Given the description of an element on the screen output the (x, y) to click on. 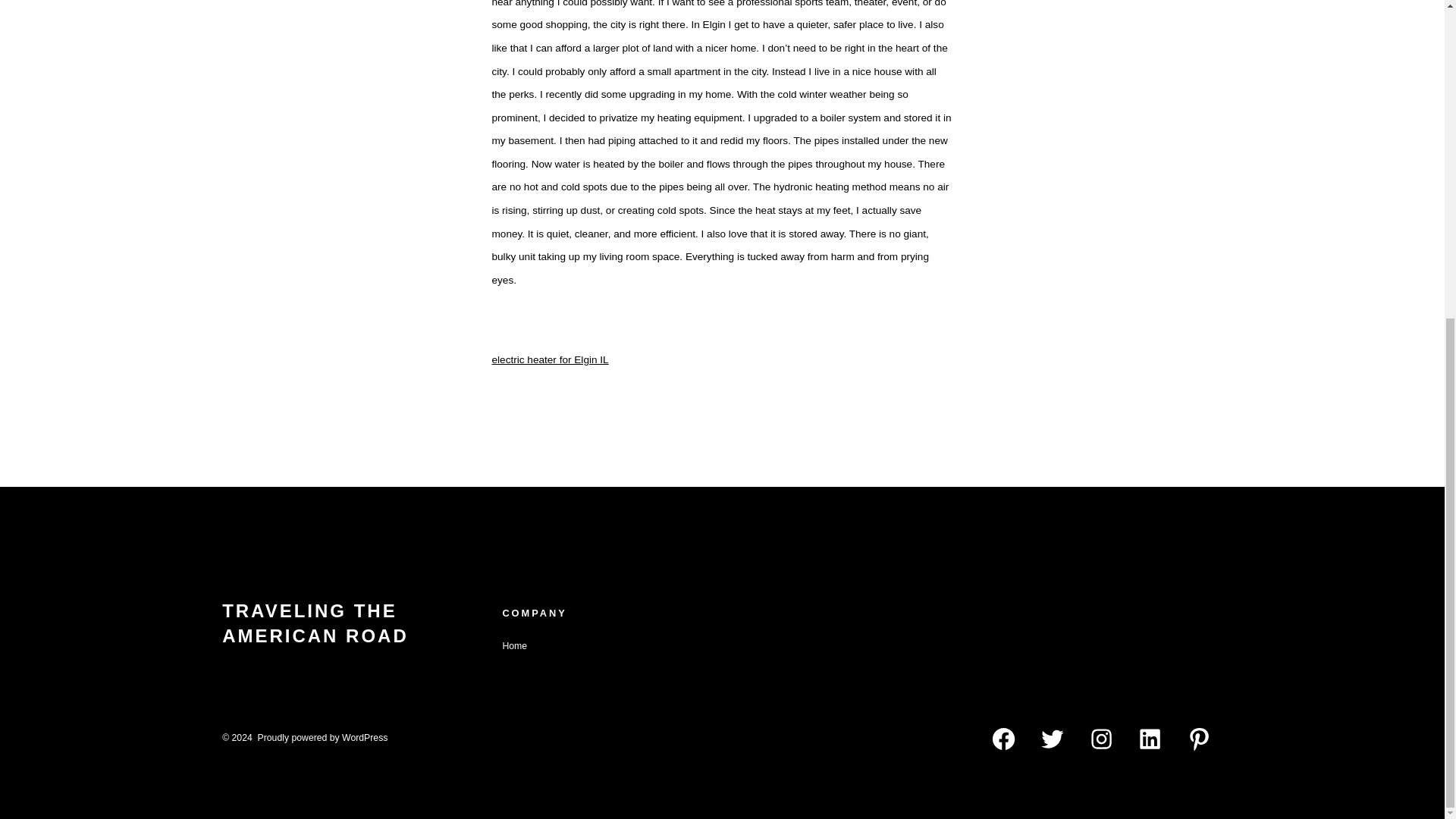
Home (514, 645)
Open LinkedIn in a new tab (1149, 738)
electric heater for Elgin IL (550, 359)
Open Twitter in a new tab (1052, 738)
Open Instagram in a new tab (1101, 738)
TRAVELING THE AMERICAN ROAD (355, 625)
Open Pinterest in a new tab (1199, 738)
Open Facebook in a new tab (1002, 738)
